Given the description of an element on the screen output the (x, y) to click on. 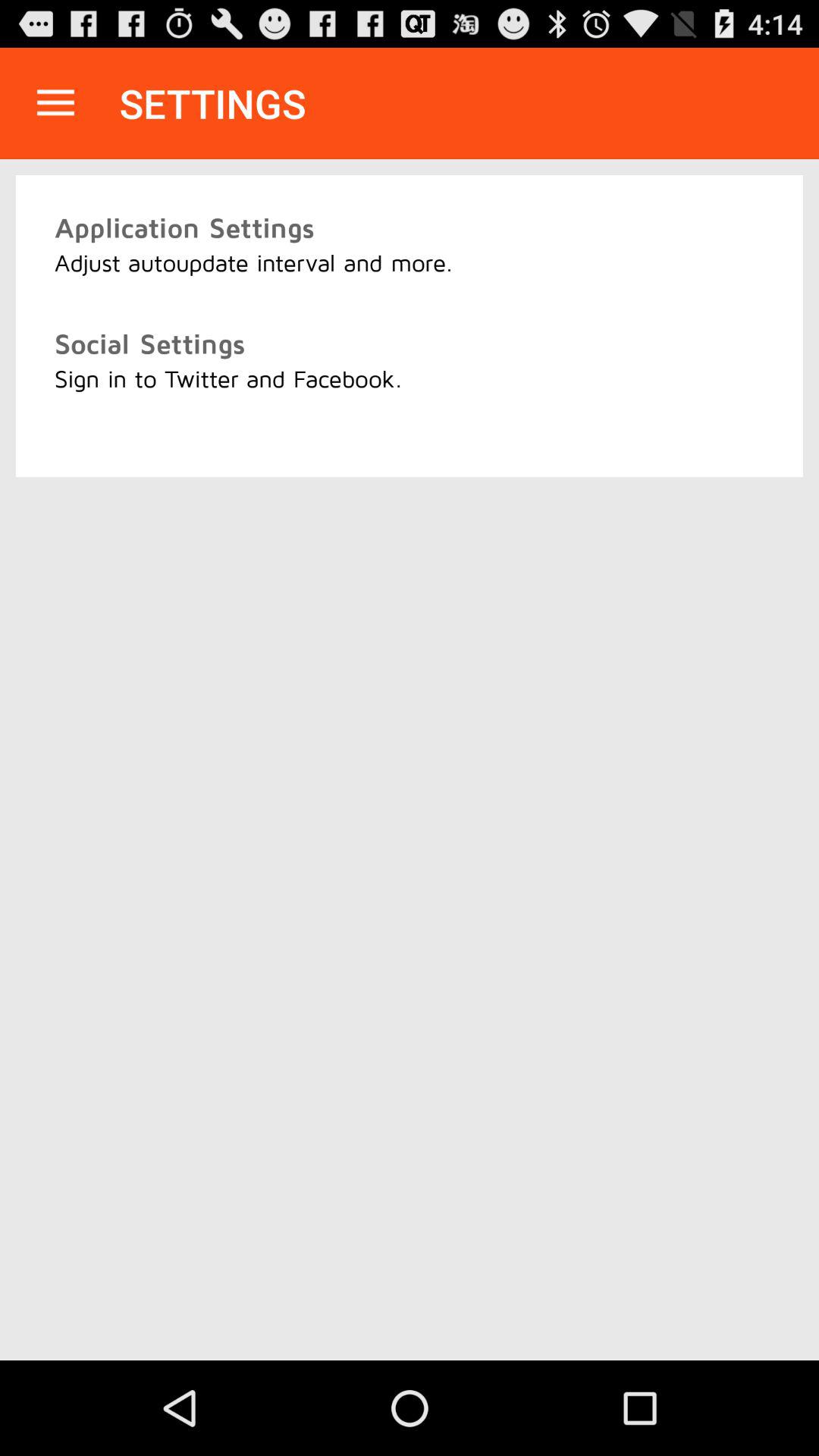
menu options (55, 103)
